Given the description of an element on the screen output the (x, y) to click on. 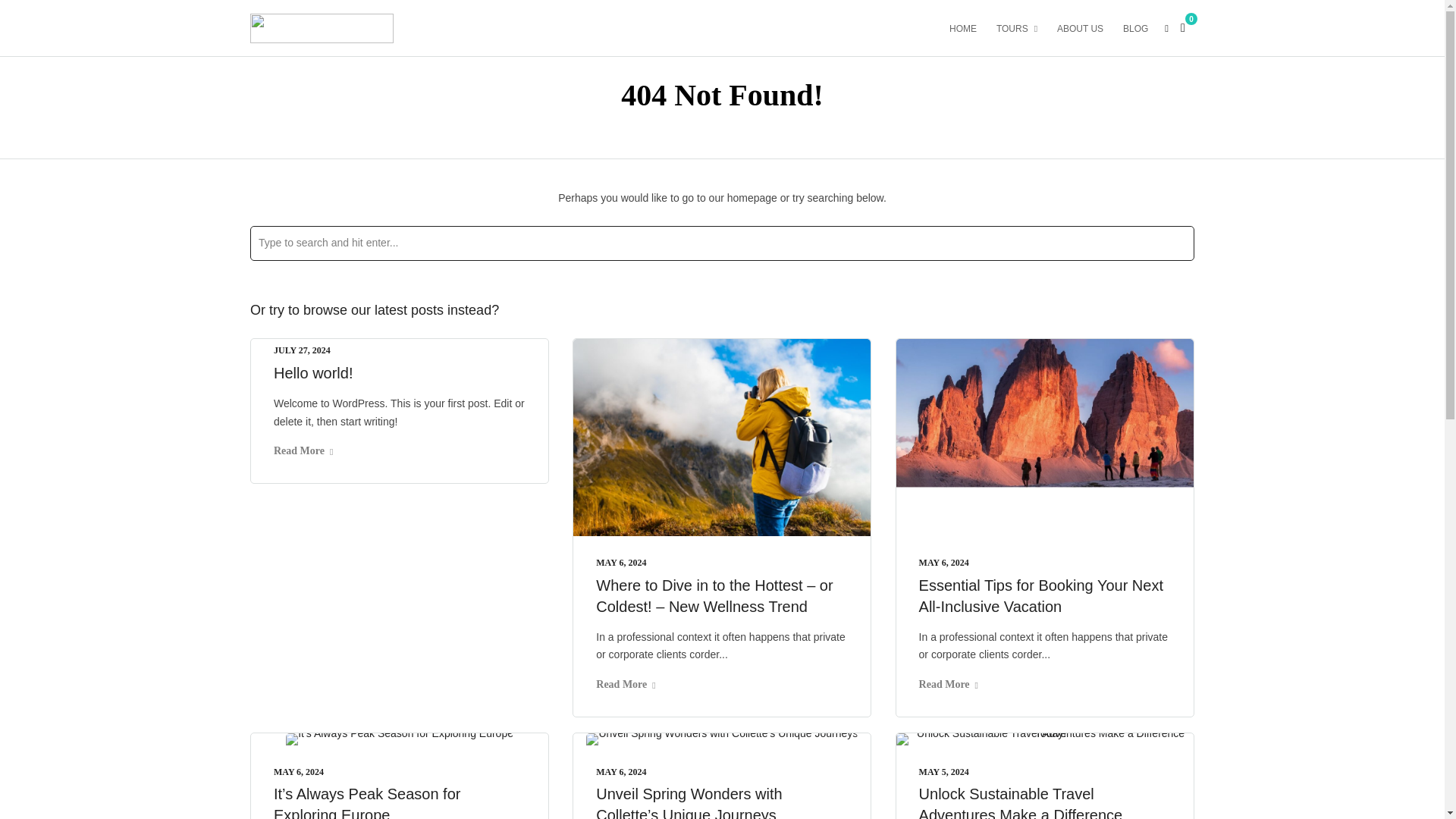
Essential Tips for Booking Your Next All-Inclusive Vacation (1040, 596)
View Cart (1182, 26)
Hello world! (312, 372)
Read More (948, 684)
JULY 27, 2024 (301, 349)
Read More (625, 684)
Read More (303, 450)
Essential Tips for Booking Your Next All-Inclusive Vacation (943, 562)
BLOG (1141, 27)
Essential Tips for Booking Your Next All-Inclusive Vacation (1040, 596)
HOME (969, 27)
Hello world! (301, 349)
Hello world! (312, 372)
